Given the description of an element on the screen output the (x, y) to click on. 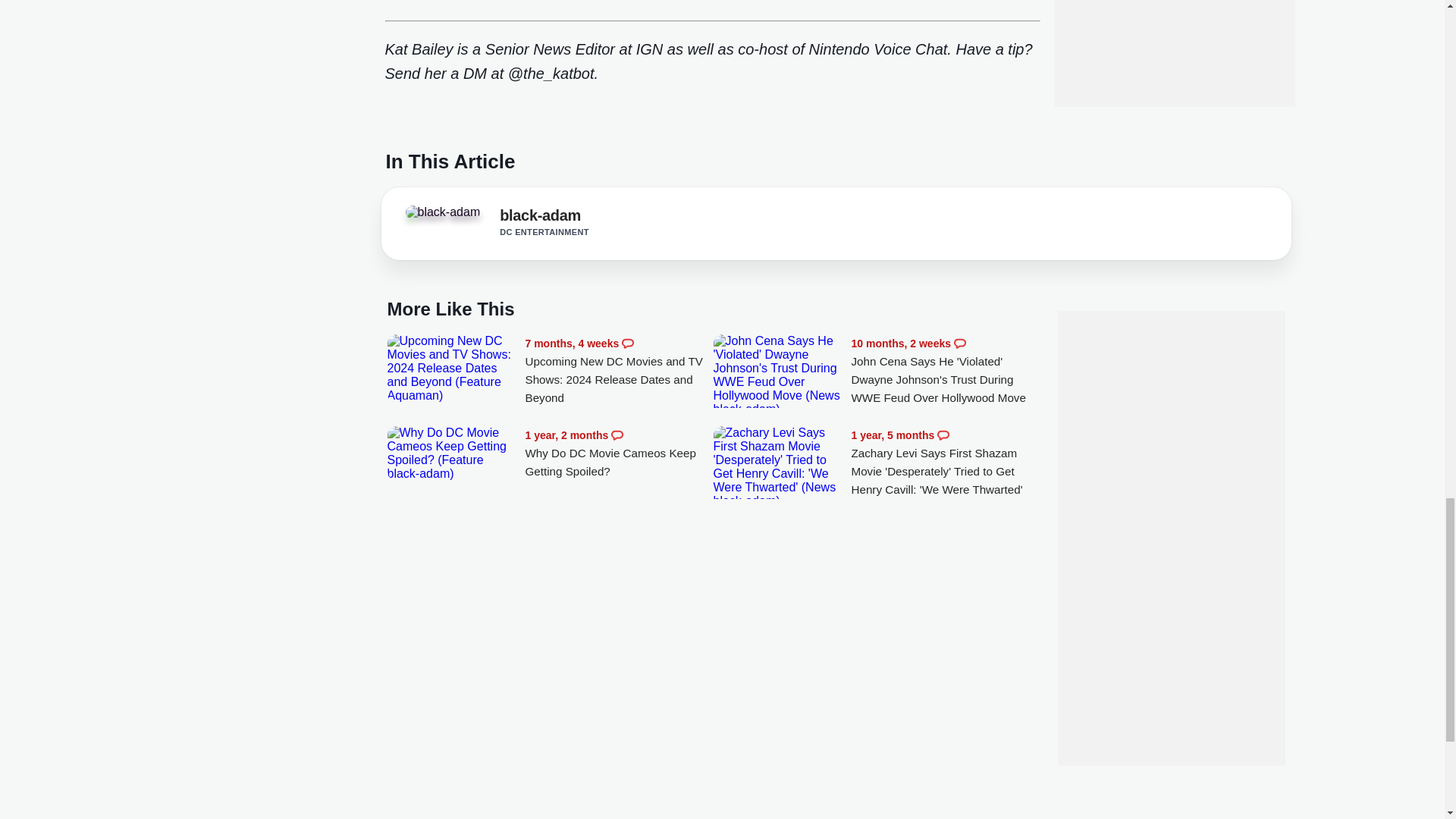
black-adam (448, 216)
Comments (617, 435)
Comments (943, 435)
Why Do DC Movie Cameos Keep Getting Spoiled? (451, 452)
black-adam (442, 212)
Comments (959, 343)
Why Do DC Movie Cameos Keep Getting Spoiled? (618, 453)
